Given the description of an element on the screen output the (x, y) to click on. 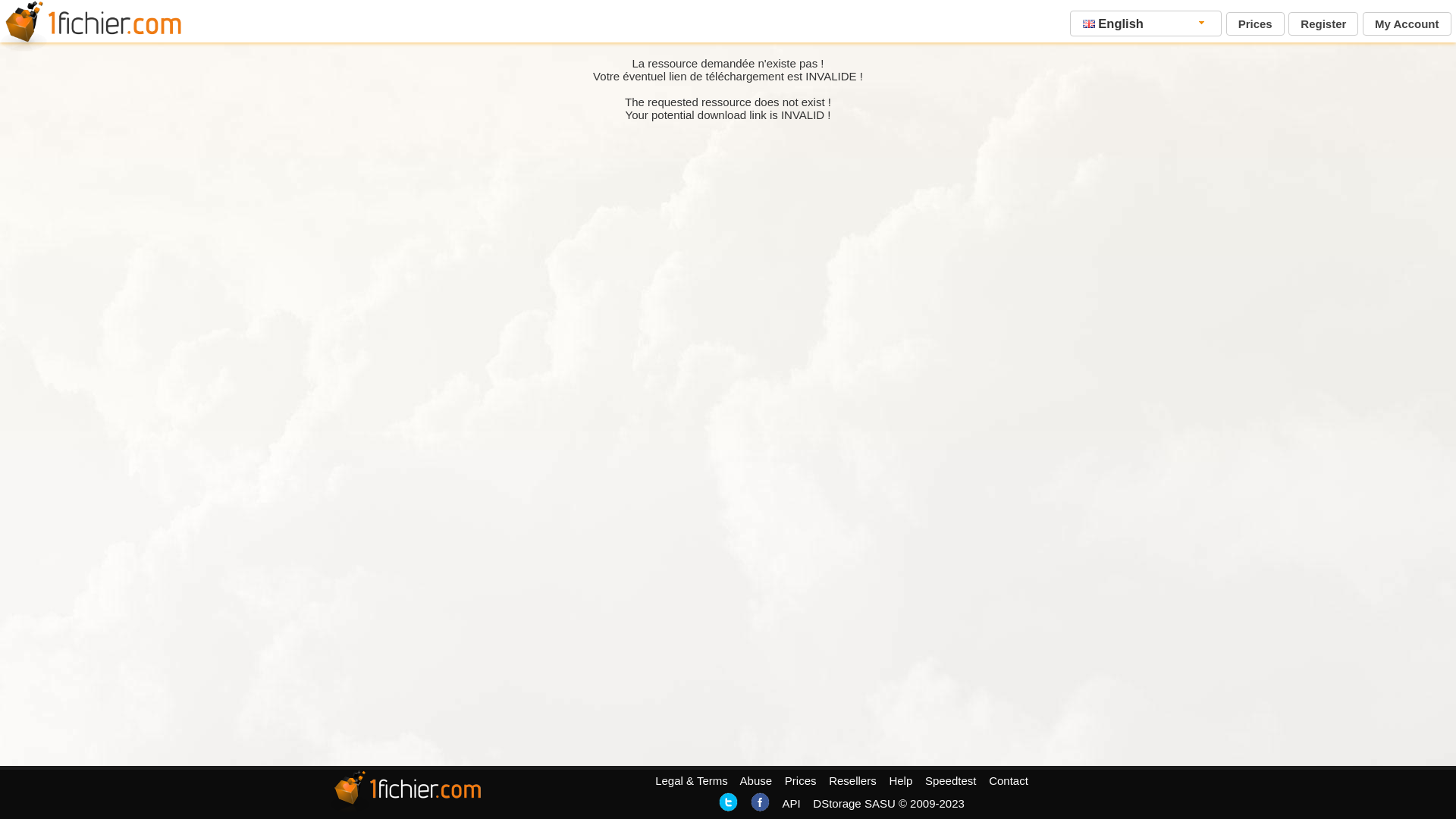
Register Element type: text (1323, 23)
Prices Element type: text (1255, 23)
My Account Element type: text (1406, 23)
Help Element type: text (900, 780)
Speedtest Element type: text (950, 780)
Resellers Element type: text (852, 780)
Contact Element type: text (1008, 780)
Prices Element type: text (800, 780)
Legal & Terms Element type: text (691, 780)
Abuse Element type: text (756, 780)
API Element type: text (790, 803)
